Given the description of an element on the screen output the (x, y) to click on. 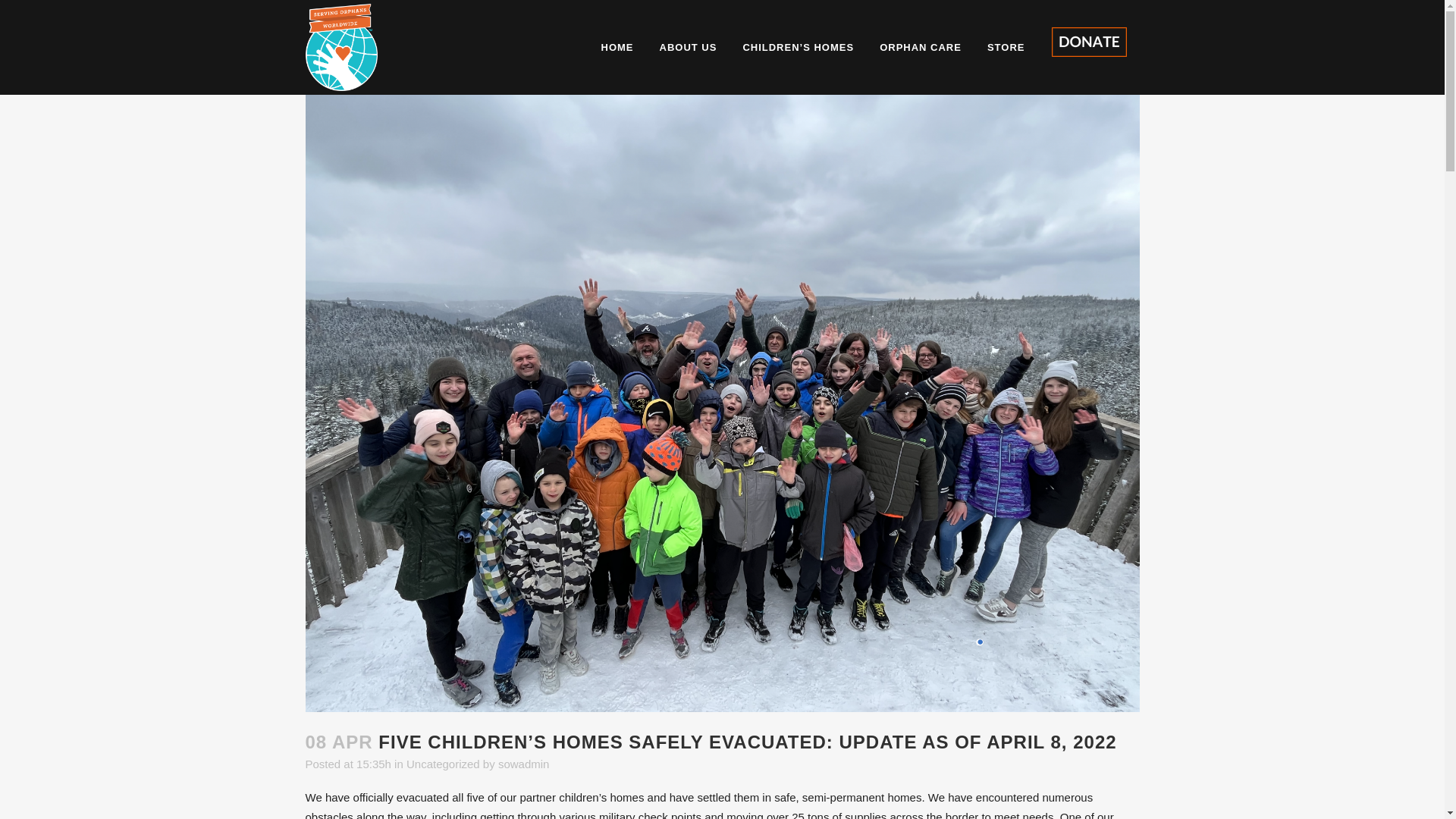
Uncategorized (443, 763)
ORPHAN CARE (920, 47)
sowadmin (523, 763)
